Given the description of an element on the screen output the (x, y) to click on. 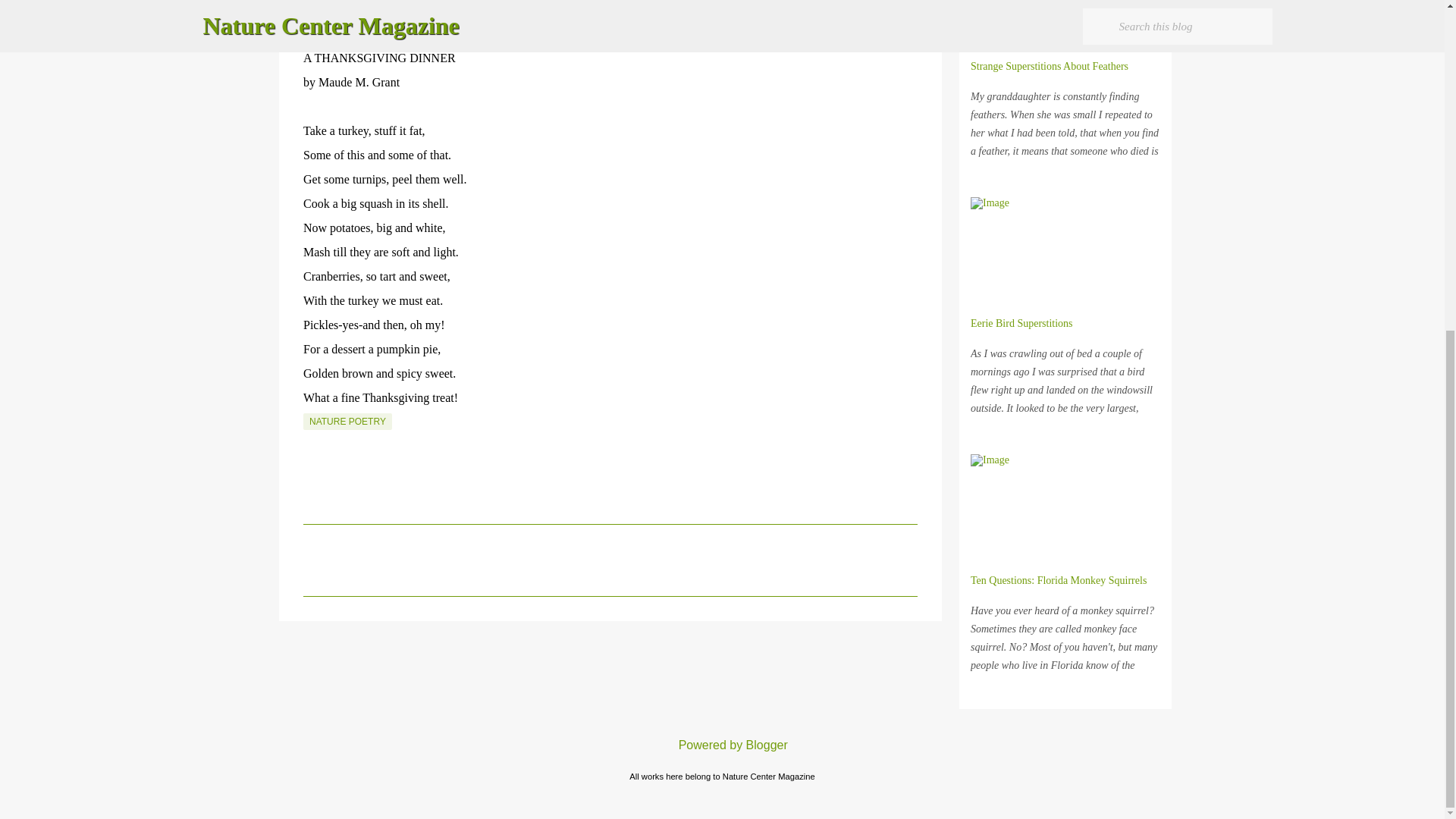
Strange Superstitions About Feathers (1049, 66)
NATURE POETRY (346, 421)
Powered by Blogger (721, 744)
Eerie Bird Superstitions (1022, 323)
Ten Questions: Florida Monkey Squirrels (1059, 580)
